Given the description of an element on the screen output the (x, y) to click on. 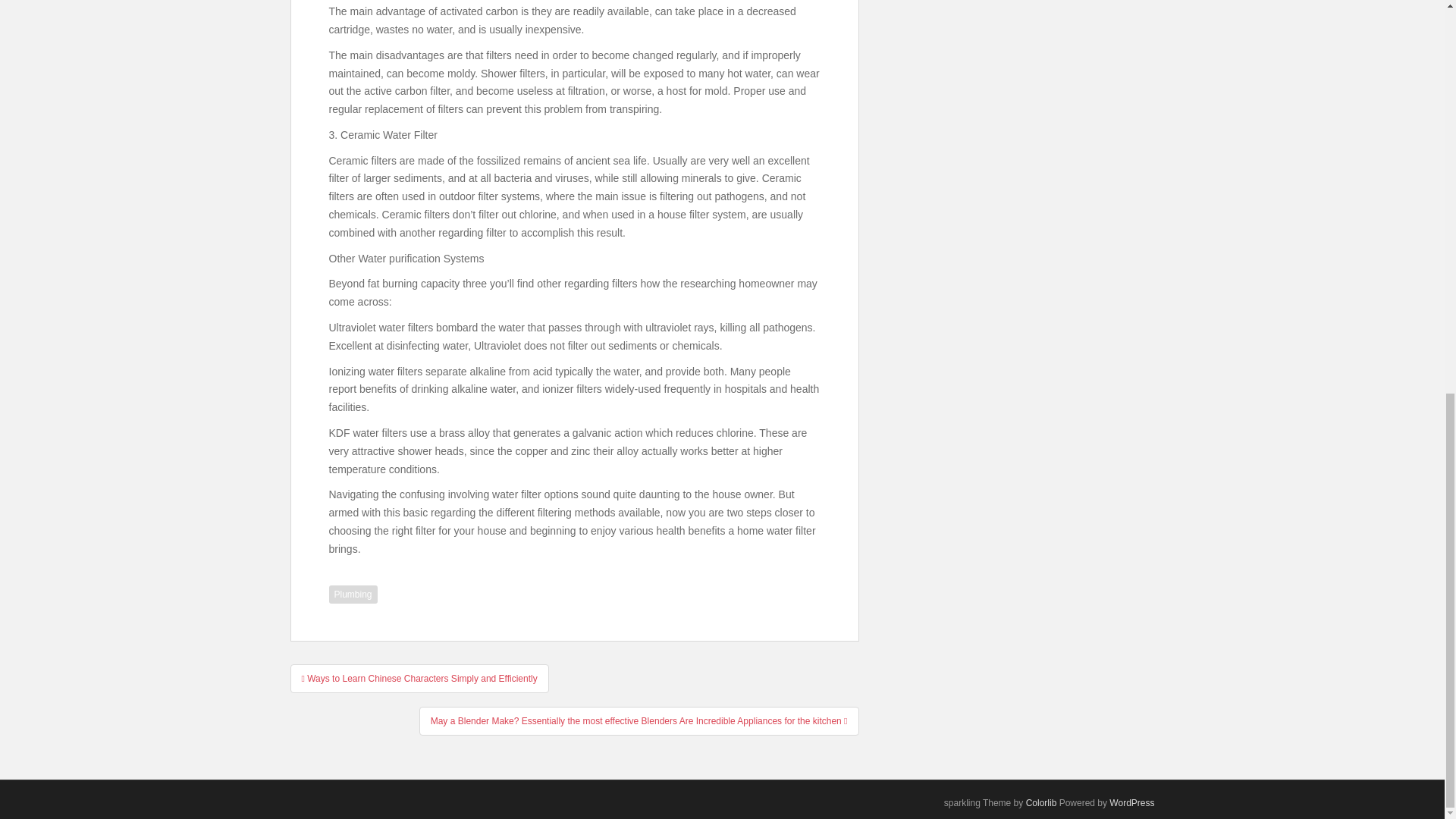
Plumbing (353, 594)
WordPress (1131, 802)
Colorlib (1041, 802)
Ways to Learn Chinese Characters Simply and Efficiently (418, 678)
